Given the description of an element on the screen output the (x, y) to click on. 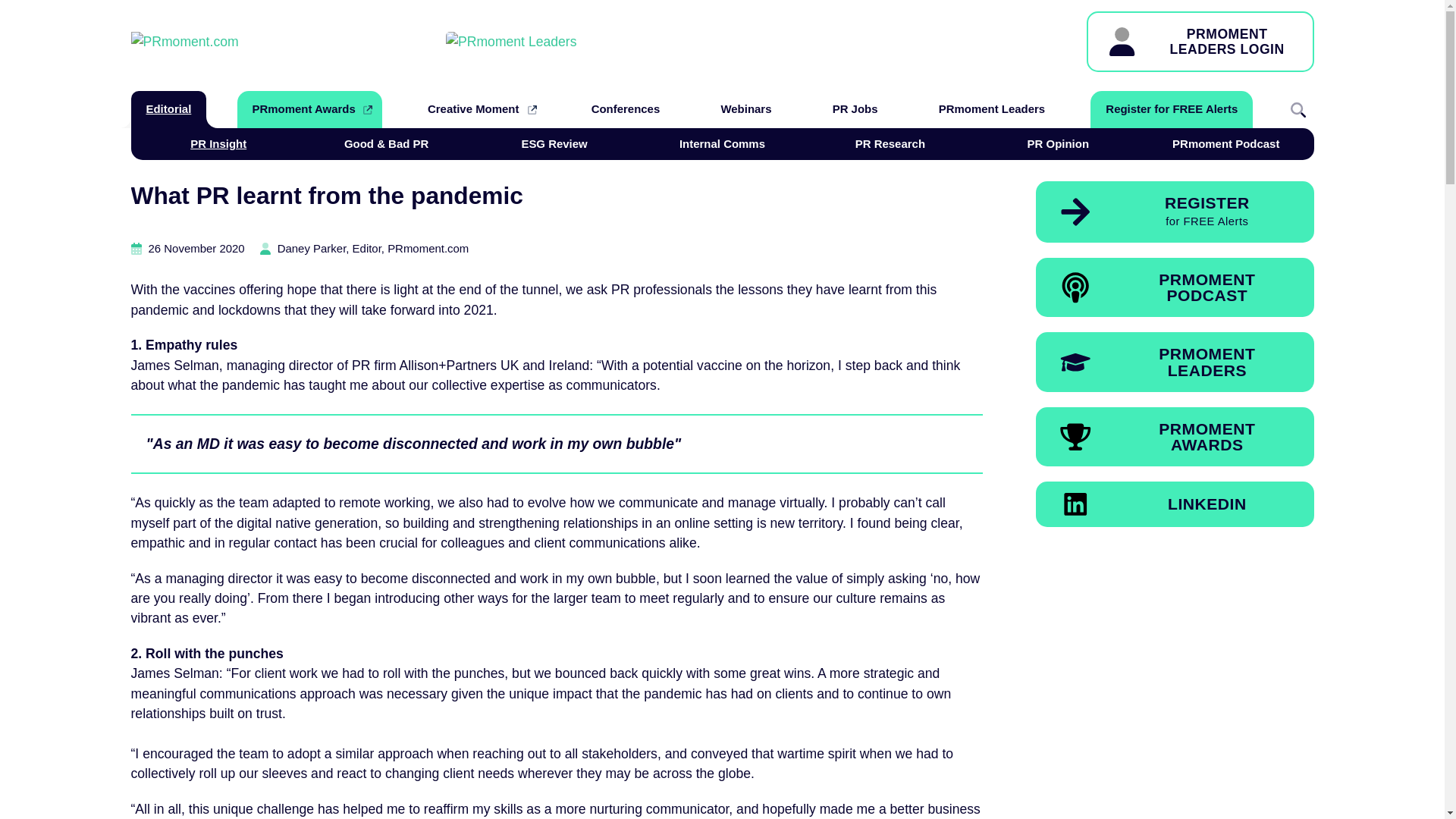
ESG Review (553, 143)
PR Jobs (854, 108)
Internal Comms (721, 143)
PRmoment Leaders (991, 108)
LINKEDIN (1174, 504)
Conferences (625, 108)
PRmoment Podcast (1225, 143)
PR Research (1199, 41)
PRmoment Awards (889, 143)
Search (309, 108)
PR Opinion (1297, 108)
Editorial (1174, 436)
Register for FREE Alerts (1057, 143)
